Given the description of an element on the screen output the (x, y) to click on. 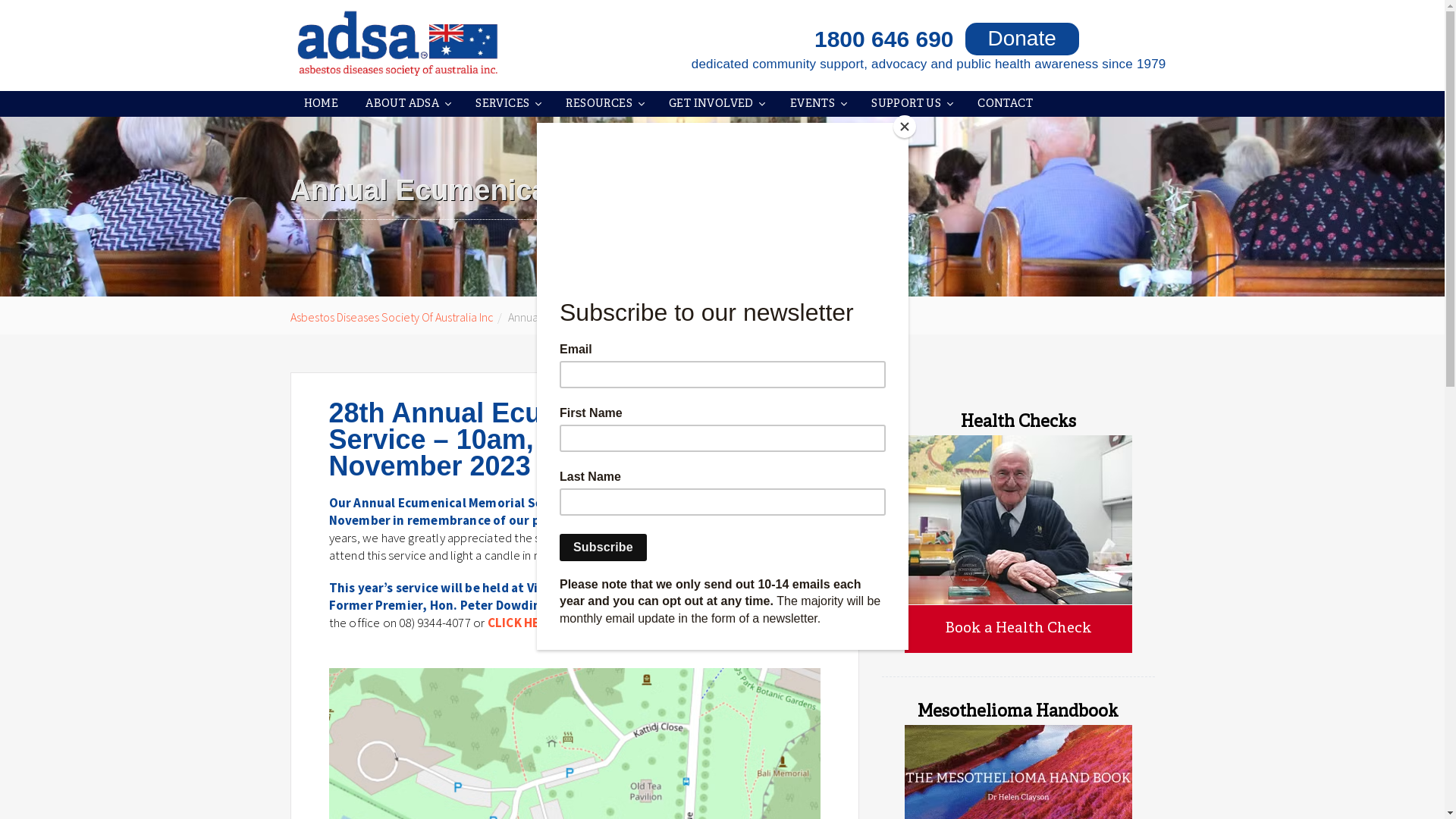
GET INVOLVED Element type: text (715, 103)
SERVICES Element type: text (506, 103)
CONTACT Element type: text (1004, 103)
RESOURCES Element type: text (603, 103)
CLICK HERE. Element type: text (522, 622)
EVENTS Element type: text (816, 103)
SUPPORT US Element type: text (910, 103)
1800 646 690 Element type: text (763, 38)
Asbestos Diseases Society Of Australia Inc Element type: text (390, 316)
ABOUT ADSA Element type: text (406, 103)
Book a Health Check Element type: text (1017, 628)
Donate Element type: text (1021, 38)
HOME Element type: text (320, 103)
